Given the description of an element on the screen output the (x, y) to click on. 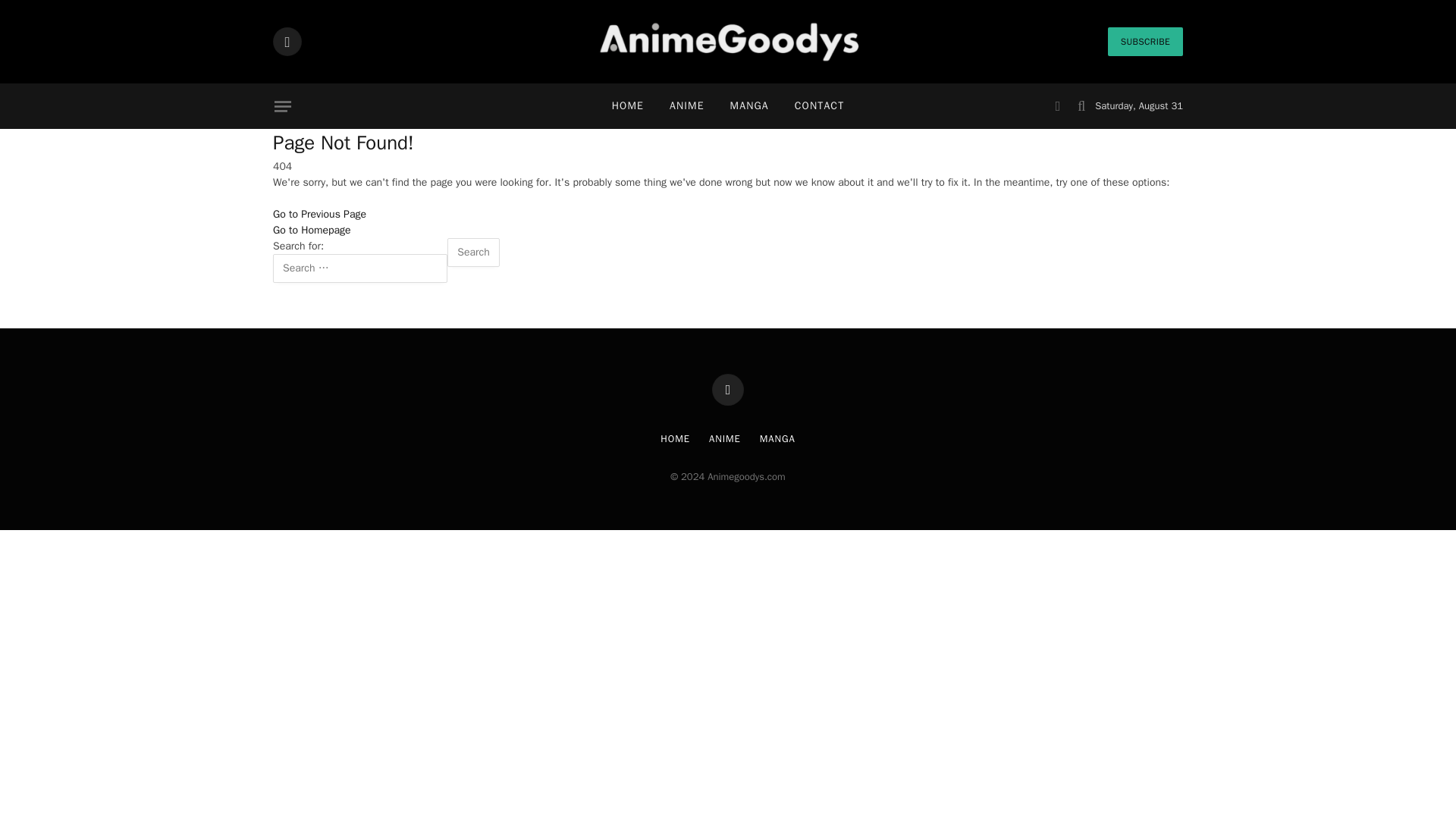
CONTACT (819, 105)
Search (472, 252)
Animegoodys.com (727, 41)
MANGA (749, 105)
HOME (627, 105)
SUBSCRIBE (1145, 41)
ANIME (686, 105)
Search (472, 252)
Pinterest (727, 389)
Pinterest (287, 41)
